Given the description of an element on the screen output the (x, y) to click on. 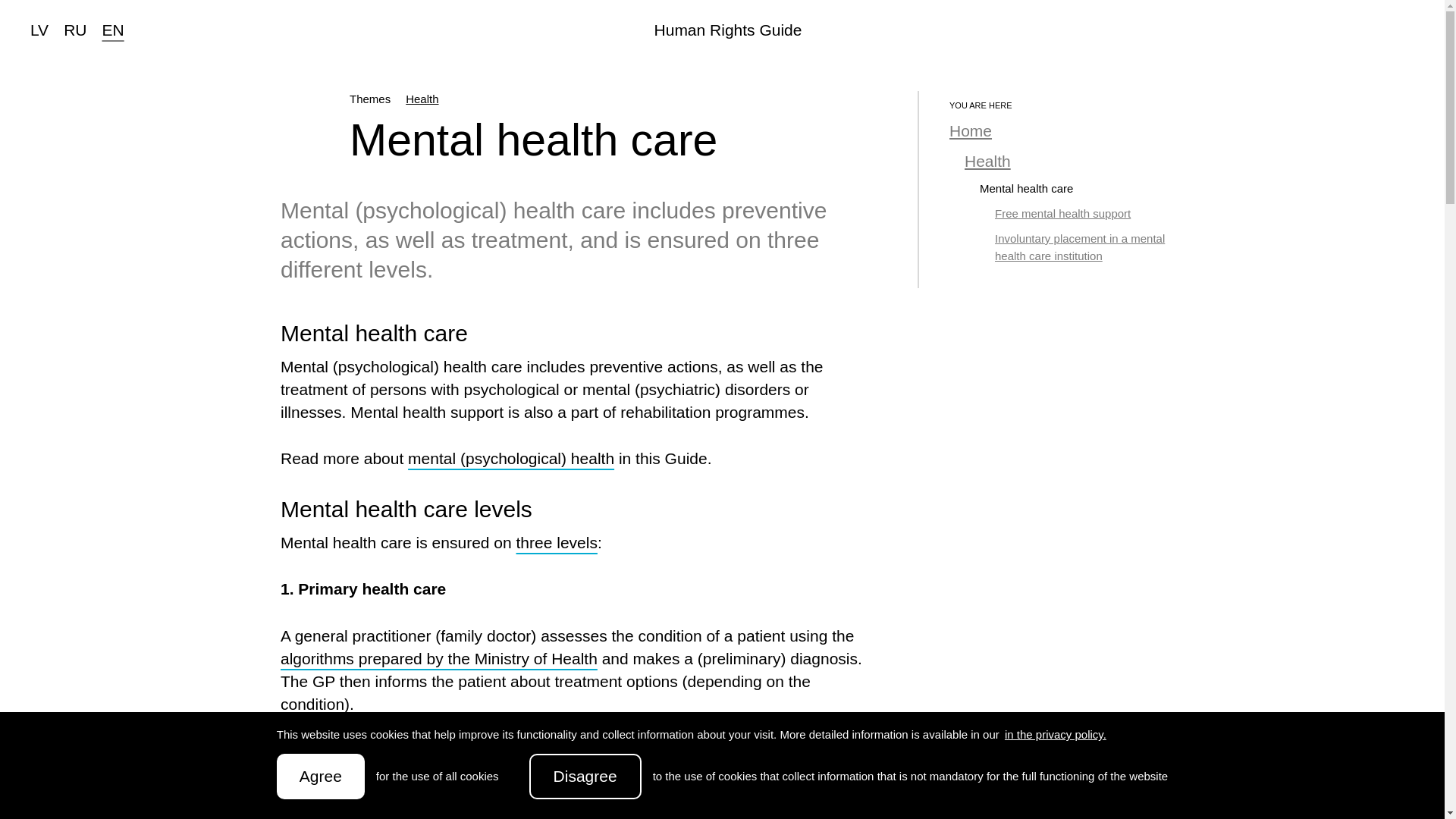
three levels (556, 542)
EN (112, 29)
algorithms prepared by the Ministry of Health (438, 658)
Human Rights Guide (727, 29)
Mental health care (1026, 187)
Health (422, 98)
Involuntary placement in a mental health care institution (1079, 246)
Agree (320, 776)
Home (970, 130)
Themes (369, 98)
